Given the description of an element on the screen output the (x, y) to click on. 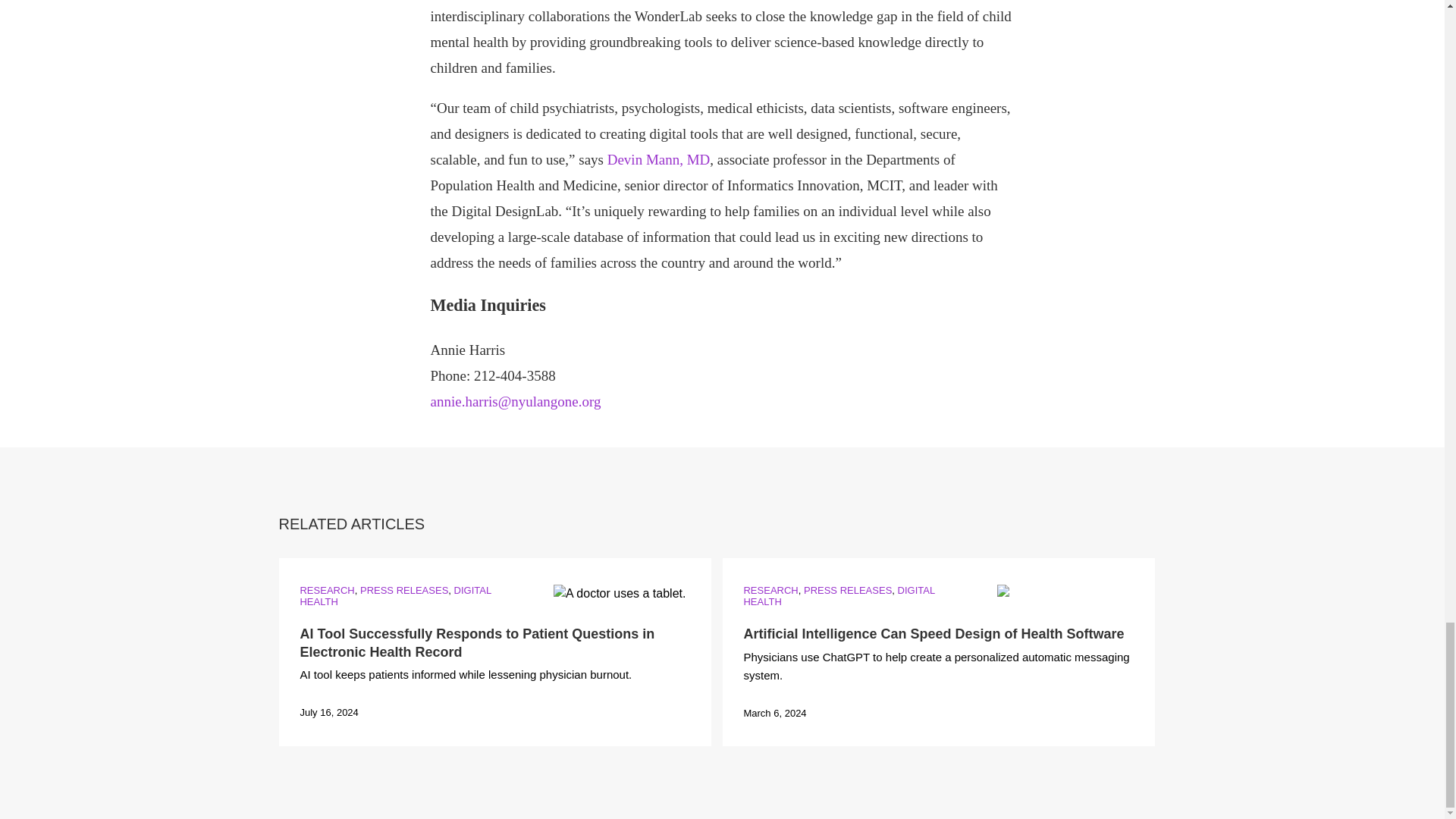
PRESS RELEASES (847, 590)
Artificial Intelligence Can Speed Design of Health Software (933, 633)
PRESS RELEASES (403, 590)
DIGITAL HEALTH (838, 596)
DIGITAL HEALTH (394, 596)
Devin Mann, MD (658, 159)
RESEARCH (769, 590)
RESEARCH (326, 590)
